Given the description of an element on the screen output the (x, y) to click on. 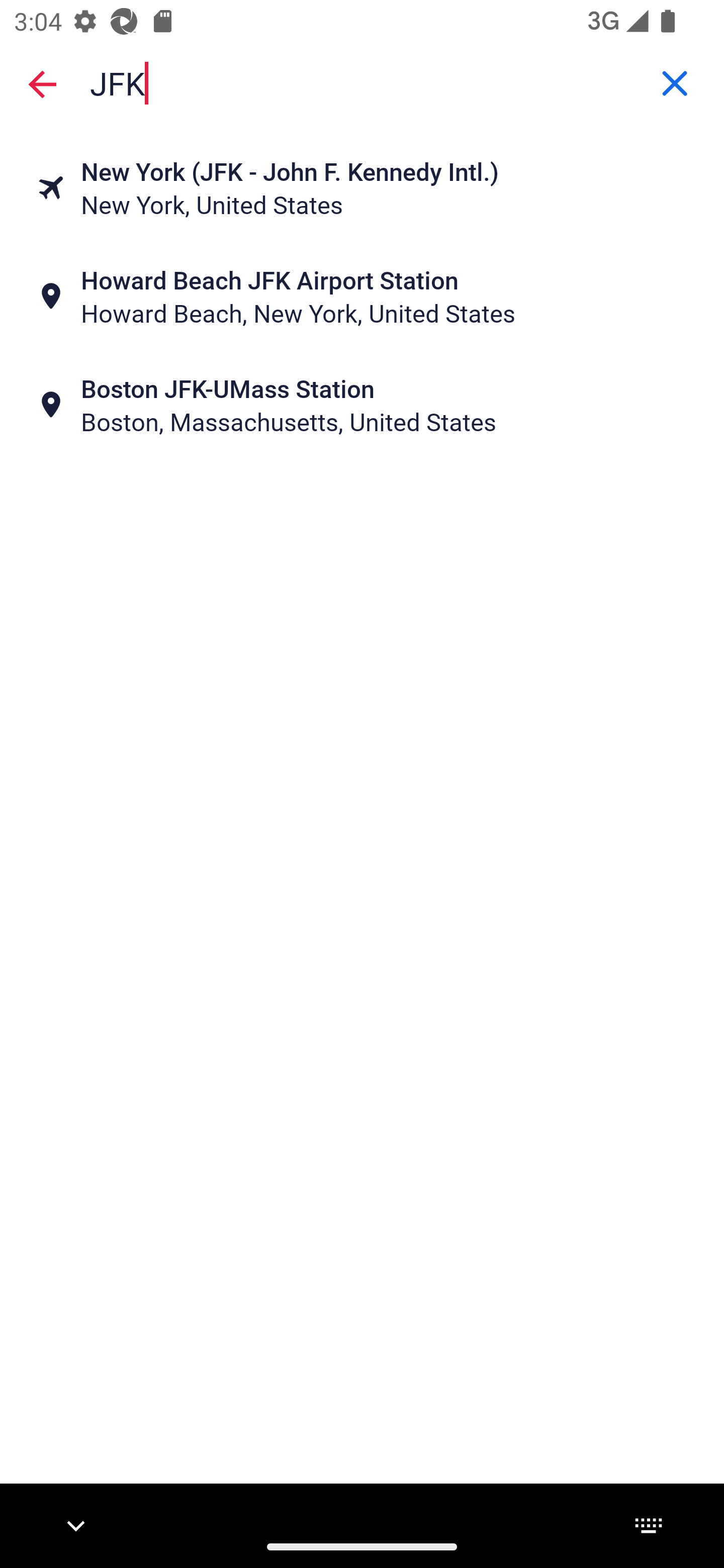
Clear Pick-up (674, 82)
Pick-up, JFK (361, 82)
Close search screen (41, 83)
